Given the description of an element on the screen output the (x, y) to click on. 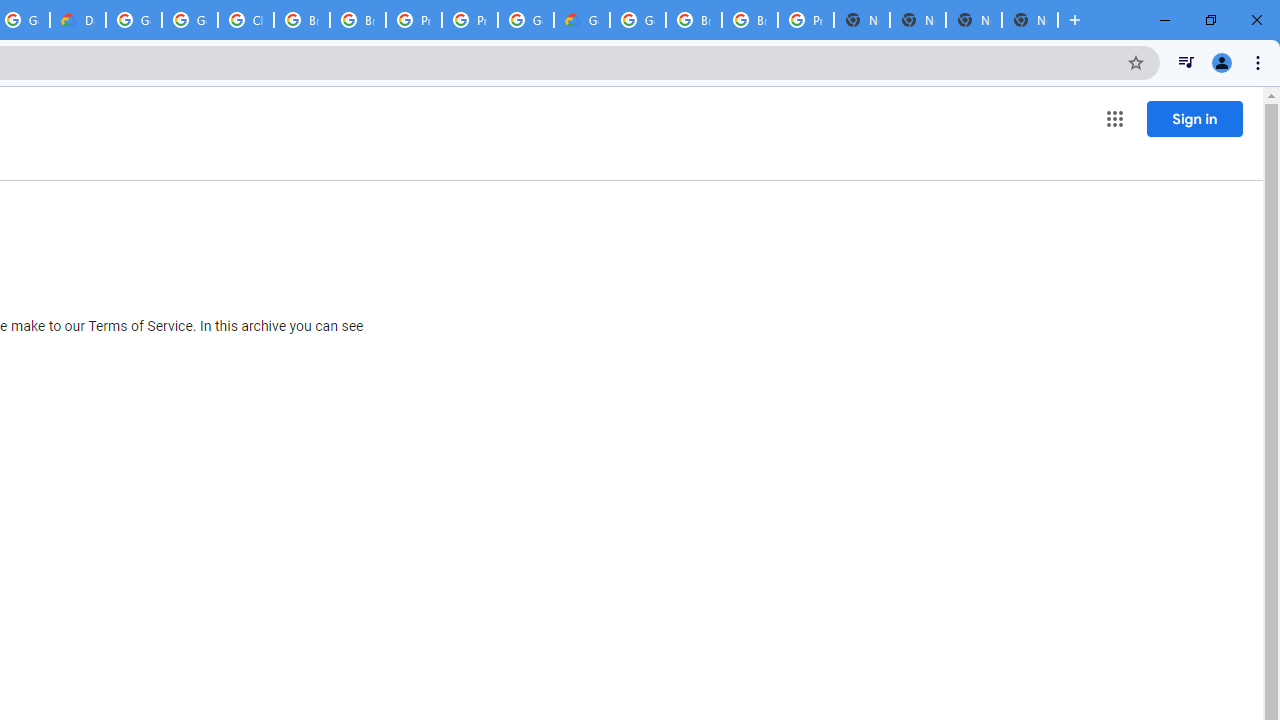
Google Cloud Estimate Summary (582, 20)
Google Cloud Platform (134, 20)
New Tab (1030, 20)
Google Cloud Platform (637, 20)
